Given the description of an element on the screen output the (x, y) to click on. 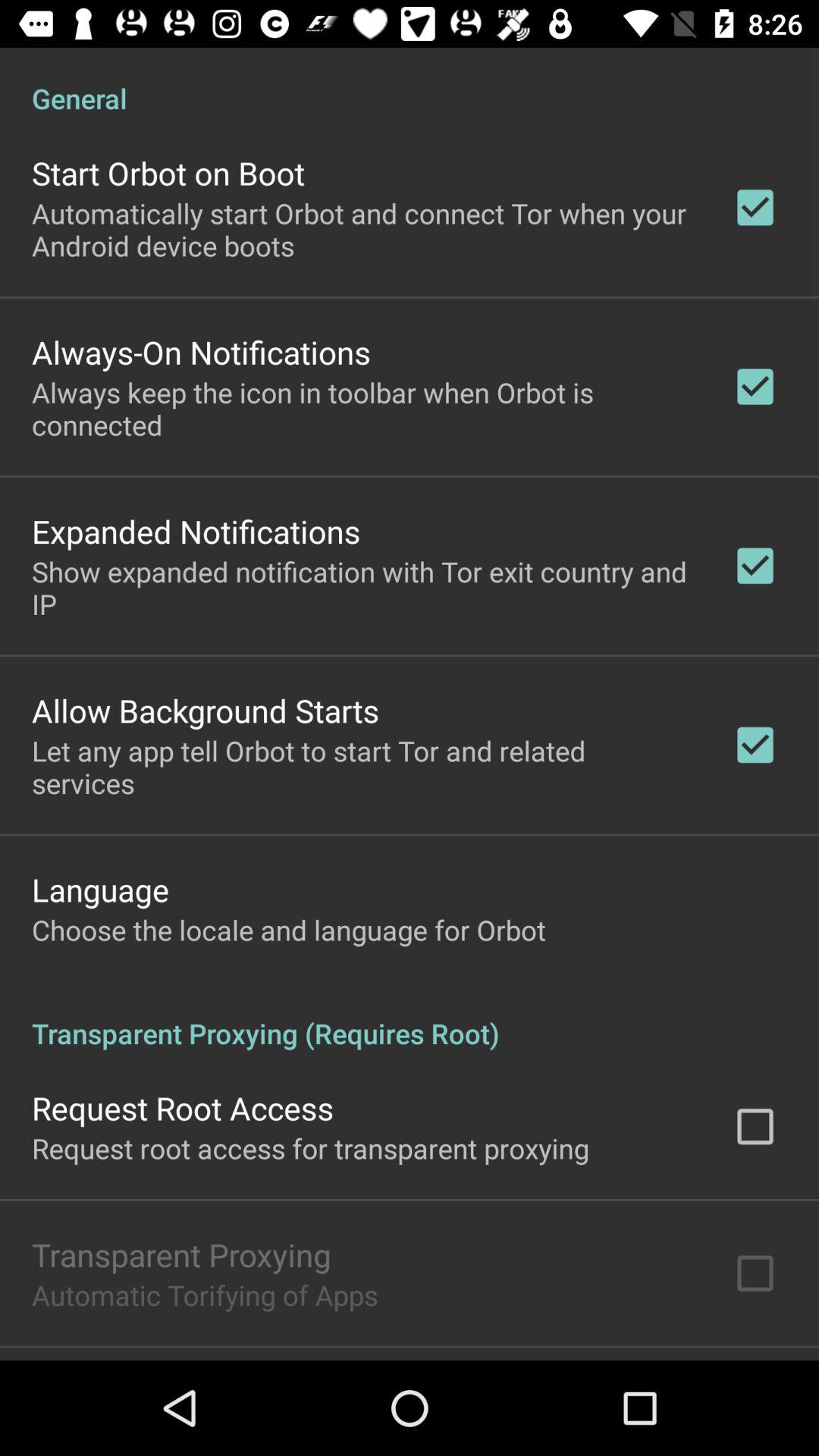
launch app above the start orbot on item (409, 82)
